Given the description of an element on the screen output the (x, y) to click on. 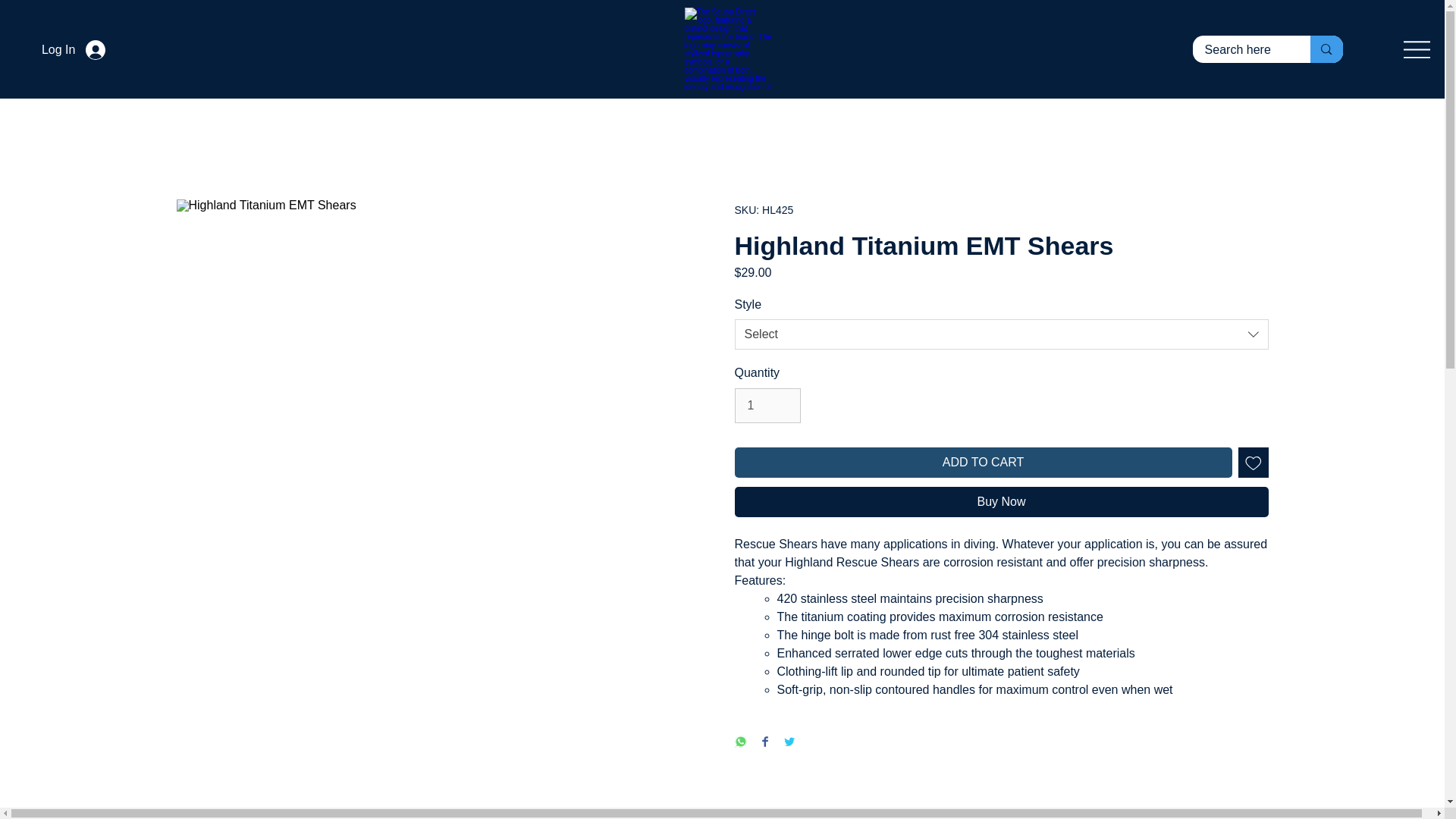
Buy Now (1000, 501)
1 (766, 405)
ADD TO CART (982, 462)
Select (1000, 334)
Log In (73, 50)
